Given the description of an element on the screen output the (x, y) to click on. 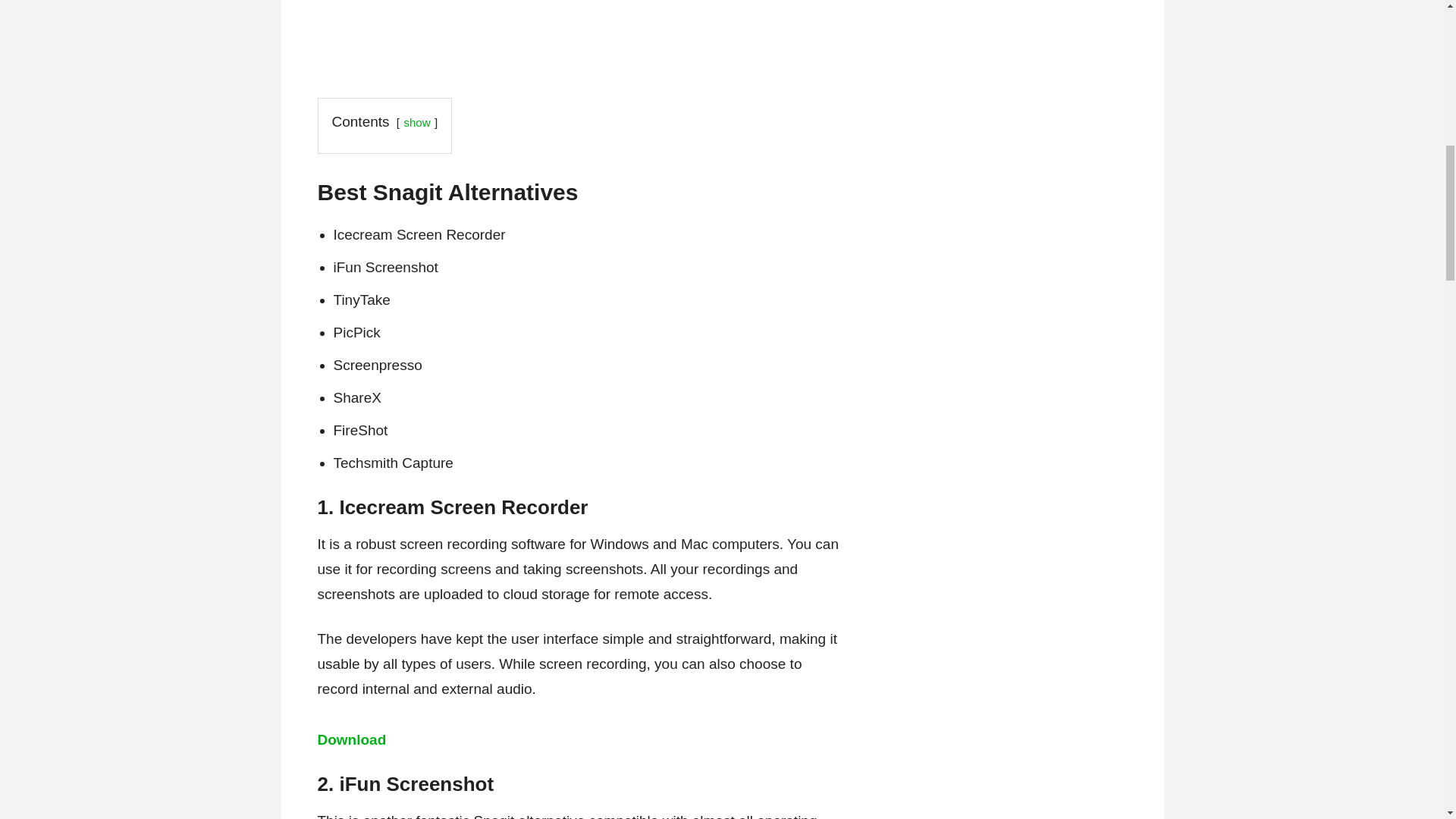
show (416, 122)
Download (351, 739)
Advertisement (580, 36)
